Given the description of an element on the screen output the (x, y) to click on. 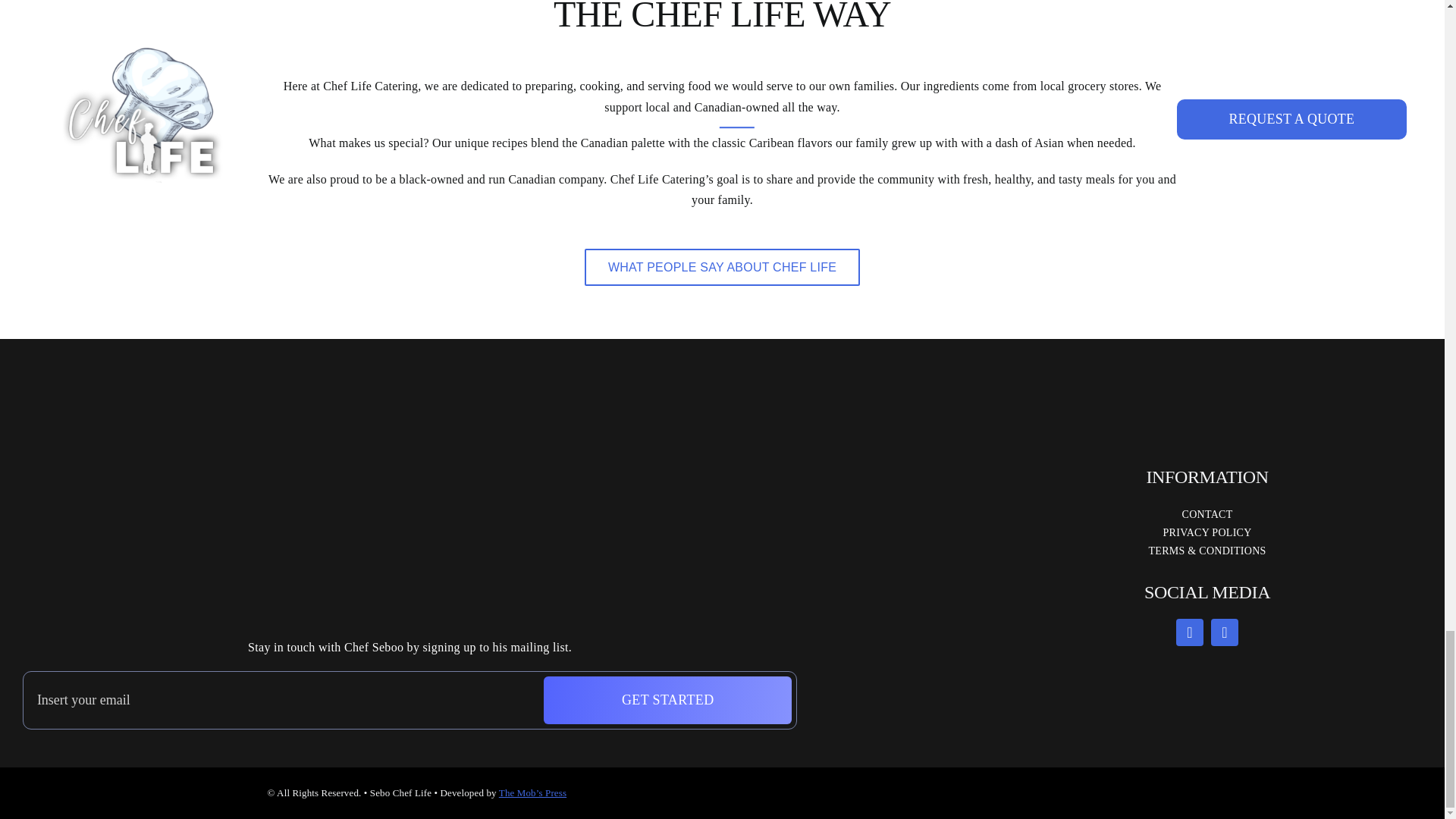
GET STARTED (667, 699)
PRIVACY POLICY (1207, 532)
GET STARTED (409, 699)
CONTACT (1207, 514)
WHAT PEOPLE SAY ABOUT CHEF LIFE (722, 266)
